Given the description of an element on the screen output the (x, y) to click on. 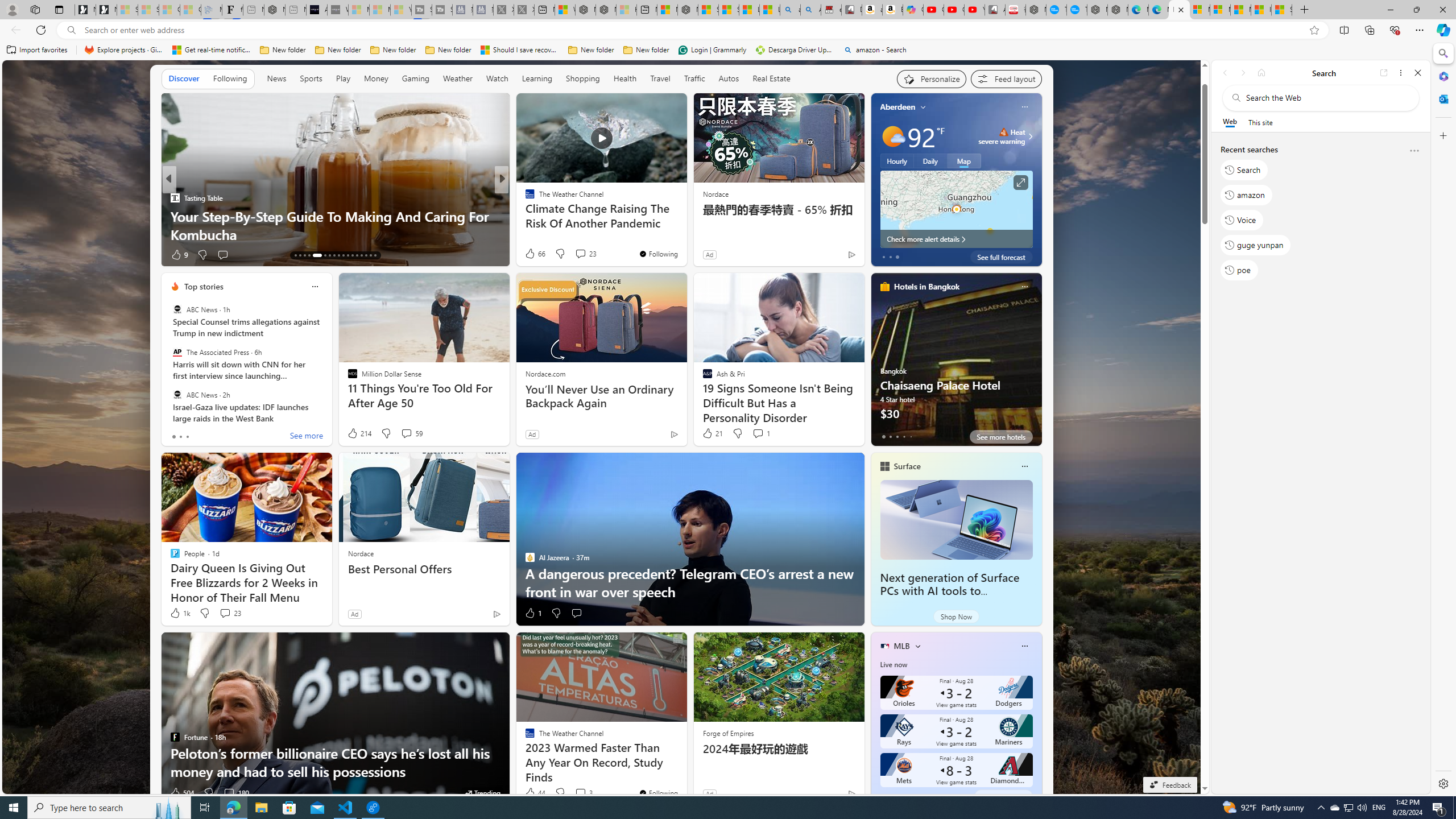
AutomationID: tab-25 (356, 255)
Open link in new tab (1383, 72)
AI Voice Changer for PC and Mac - Voice.ai (316, 9)
AutomationID: tab-24 (352, 255)
Map (963, 160)
View comments 7 Comment (580, 254)
See full forecast (1000, 256)
Hide this story (652, 106)
